Given the description of an element on the screen output the (x, y) to click on. 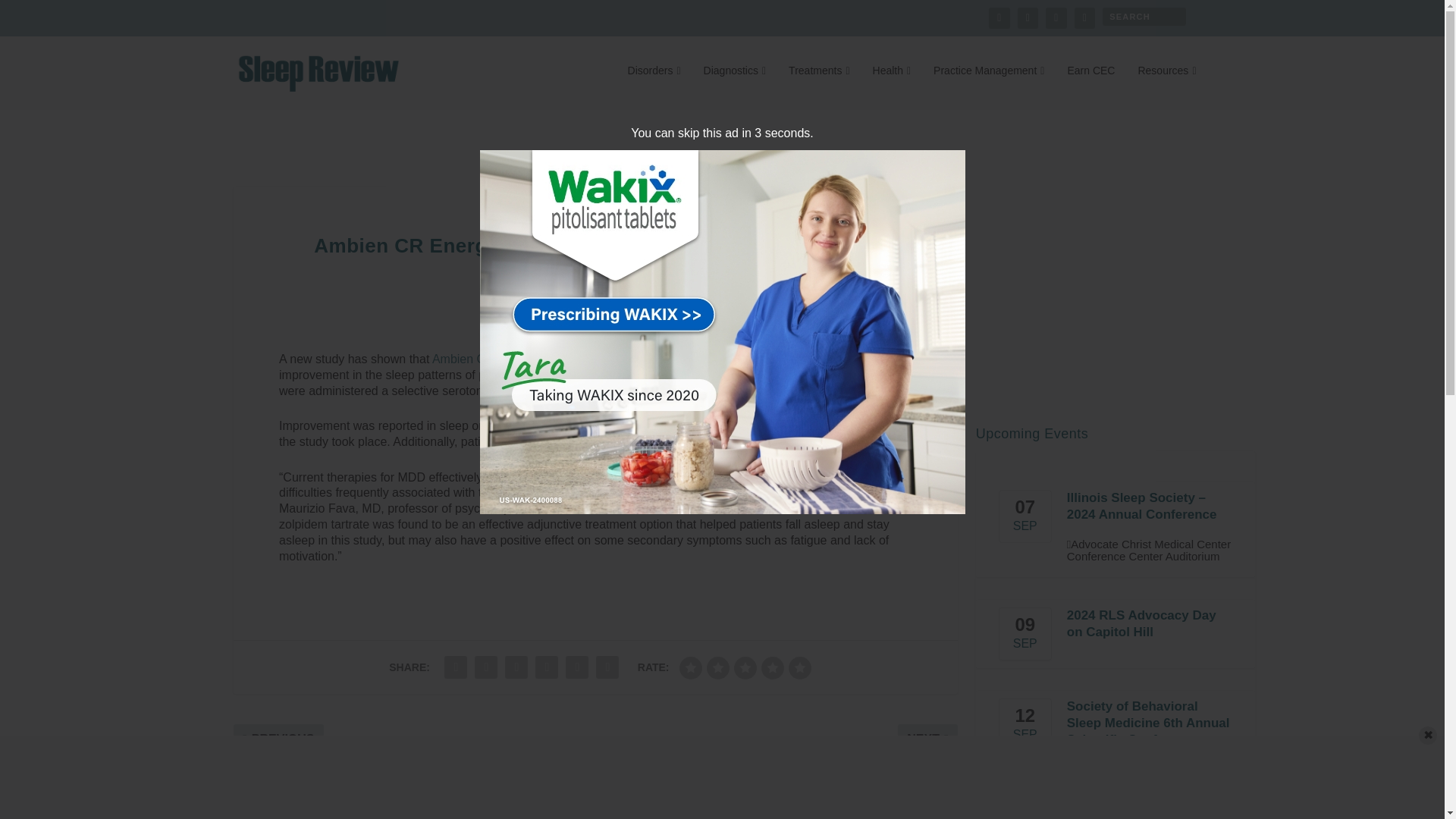
Practice Management (988, 86)
Diagnostics (735, 86)
Disorders (654, 86)
regular (745, 667)
good (772, 667)
Earn CEC (1091, 86)
poor (717, 667)
Treatments (818, 86)
